Given the description of an element on the screen output the (x, y) to click on. 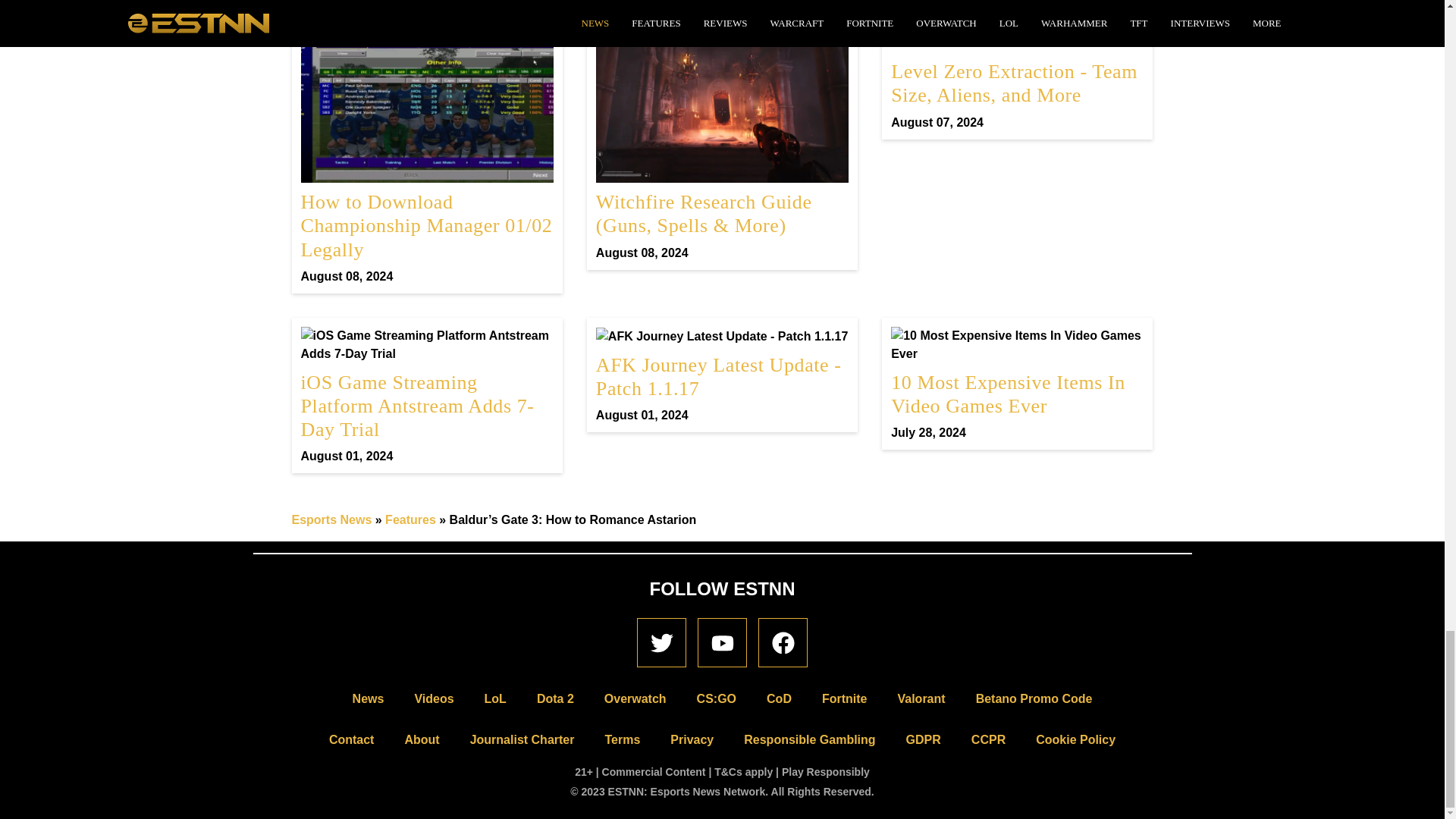
iOS Game Streaming Platform Antstream Adds 7-Day Trial (426, 395)
Level Zero Extraction - Team Size, Aliens, and More (721, 374)
AFK Journey Latest Update - Patch 1.1.17 (1016, 72)
10 Most Expensive Items In Video Games Ever (721, 374)
Esports News (1016, 383)
Features (331, 519)
